Given the description of an element on the screen output the (x, y) to click on. 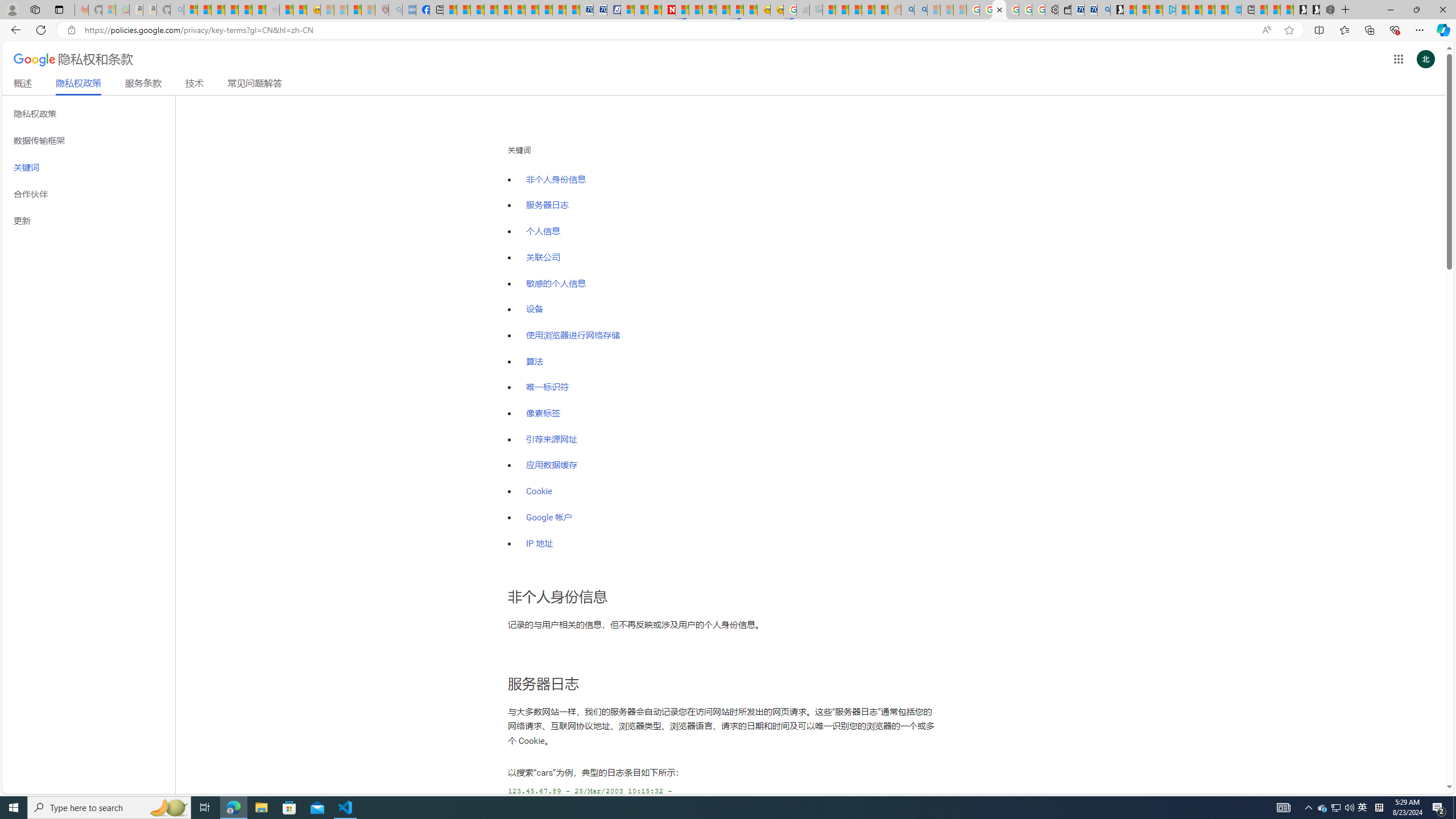
Student Loan Update: Forgiveness Program Ends This Month (868, 9)
Class: gb_E (1398, 59)
12 Popular Science Lies that Must be Corrected - Sleeping (368, 9)
